Given the description of an element on the screen output the (x, y) to click on. 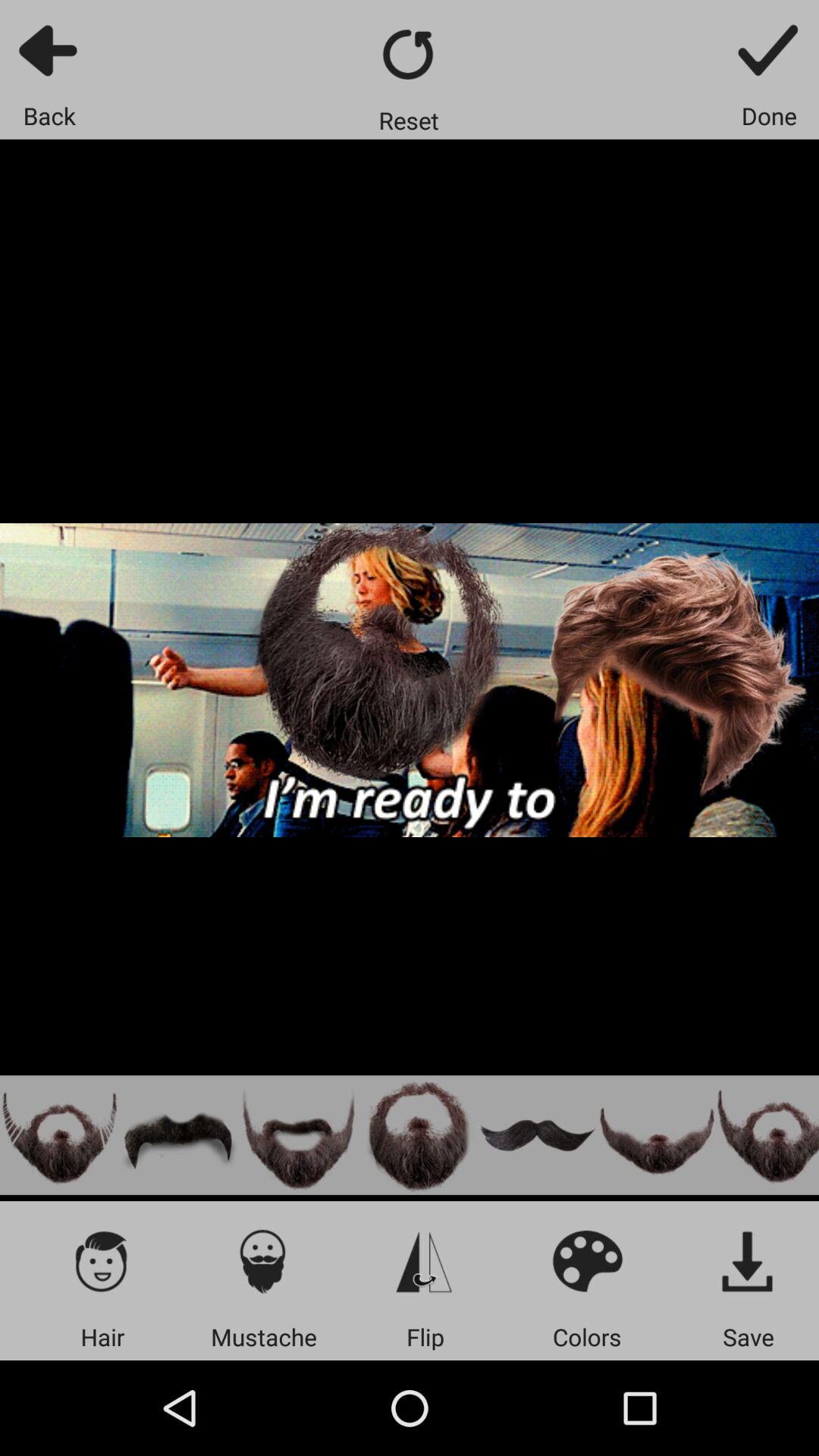
select app above done (769, 49)
